Given the description of an element on the screen output the (x, y) to click on. 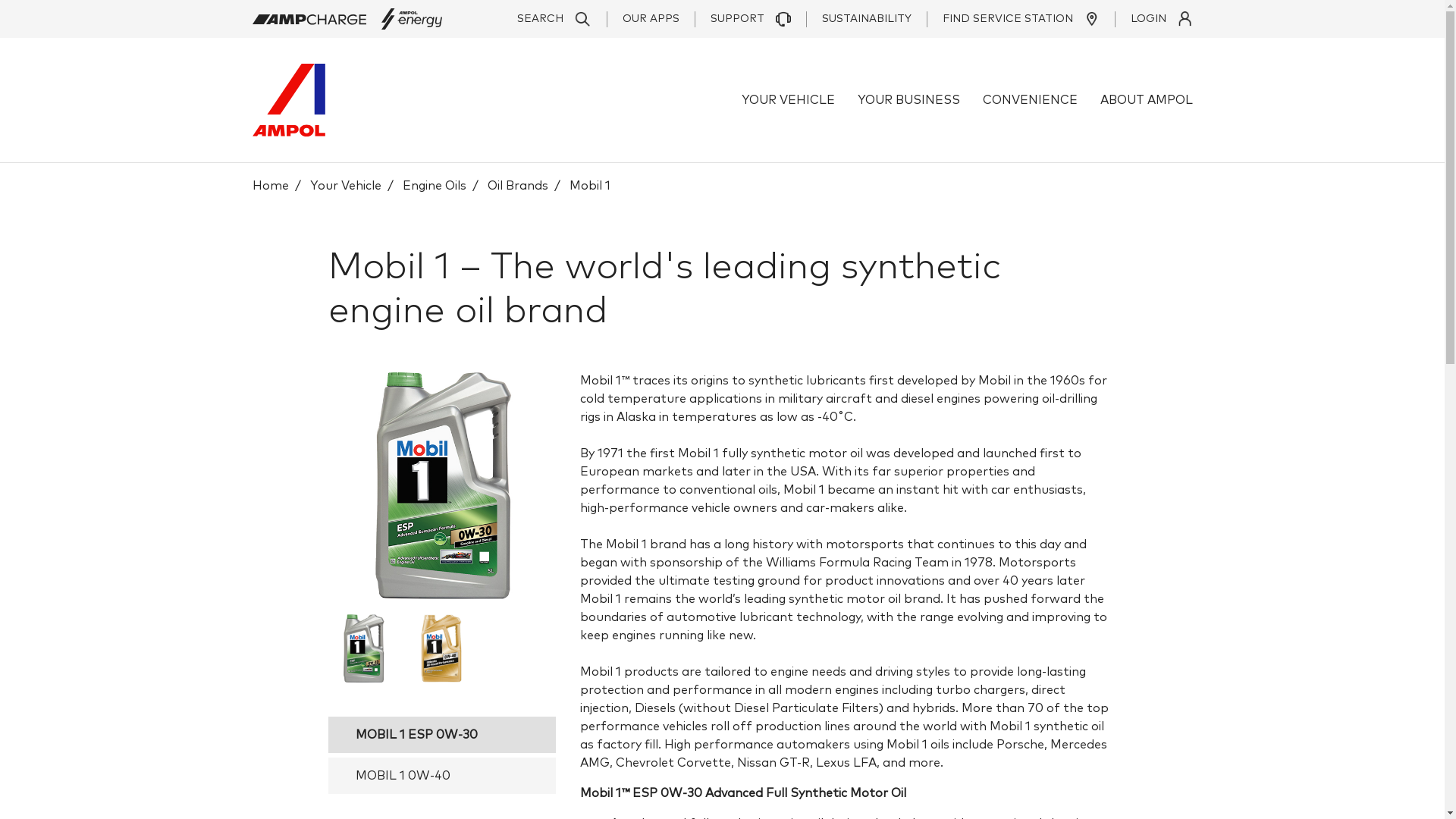
CONVENIENCE Element type: text (1029, 100)
Oil Brands Element type: text (516, 185)
Home Element type: text (269, 185)
LOGIN Element type: text (1153, 18)
FIND SERVICE STATION Element type: text (1012, 18)
SUSTAINABILITY Element type: text (857, 18)
Your Vehicle Element type: text (344, 185)
MOBIL 1 0W-40 Element type: text (441, 775)
OUR APPS Element type: text (642, 18)
YOUR VEHICLE Element type: text (787, 100)
ABOUT AMPOL Element type: text (1145, 100)
SUPPORT Element type: text (742, 18)
YOUR BUSINESS Element type: text (907, 100)
Engine Oils Element type: text (433, 185)
SEARCH Element type: text (553, 18)
MOBIL 1 ESP 0W-30 Element type: text (441, 734)
